Given the description of an element on the screen output the (x, y) to click on. 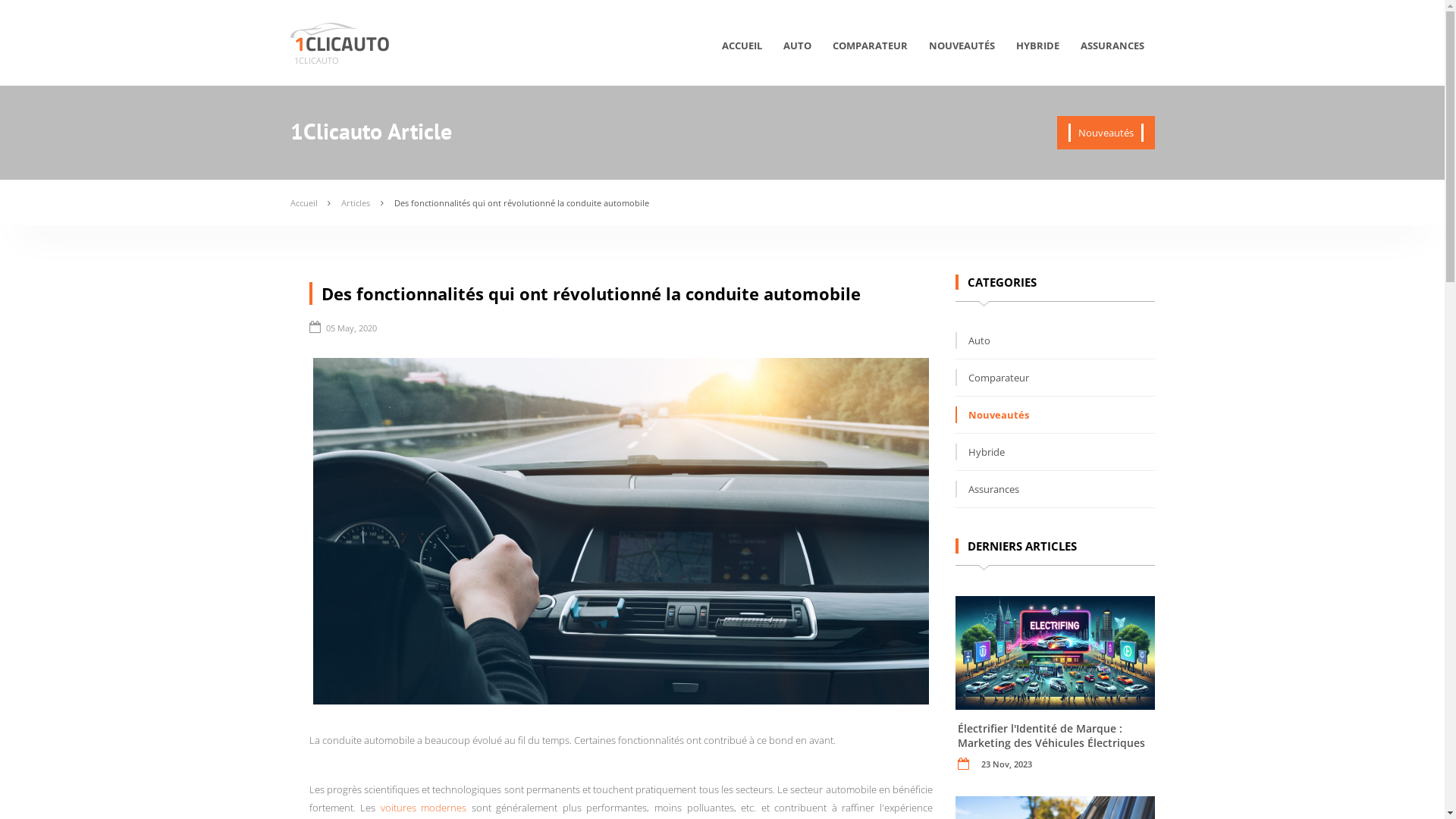
Comparateur Element type: text (992, 377)
Hybride Element type: text (979, 451)
Auto Element type: text (972, 340)
HYBRIDE Element type: text (1037, 50)
ACCUEIL Element type: text (741, 50)
voitures modernes Element type: text (423, 807)
Assurances Element type: text (987, 488)
COMPARATEUR Element type: text (870, 50)
Accueil Element type: text (302, 202)
1CLICAUTO Element type: text (316, 59)
1CLICAUTO Element type: text (341, 43)
ASSURANCES Element type: text (1111, 50)
AUTO Element type: text (796, 50)
